Given the description of an element on the screen output the (x, y) to click on. 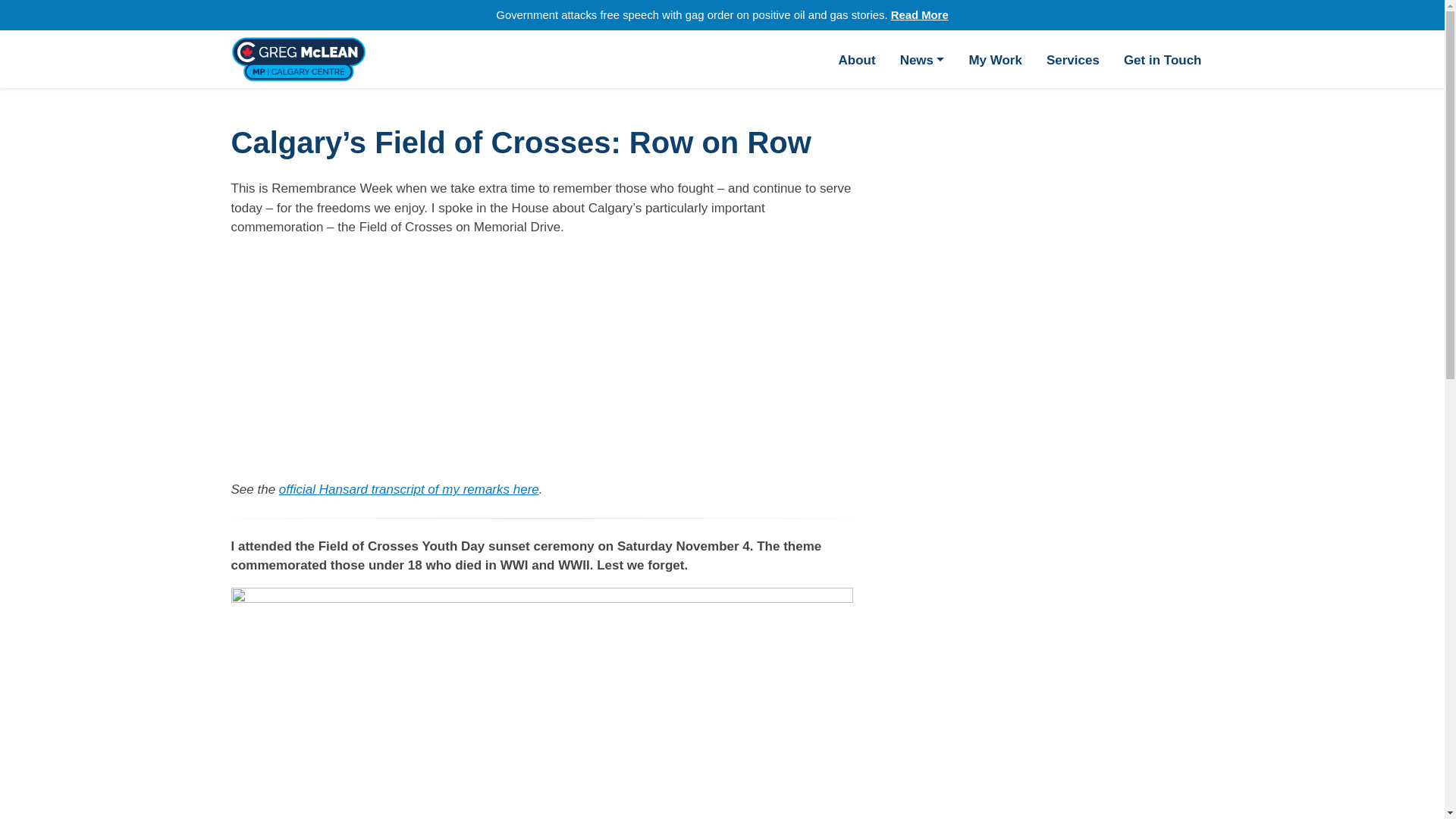
Read More (920, 15)
Get in Touch (1163, 59)
Calgary's Field of Crosses: Row on Row (420, 354)
About (857, 59)
official Hansard transcript of my remarks here (408, 489)
News (922, 59)
My Work (994, 59)
Services (1072, 59)
